Given the description of an element on the screen output the (x, y) to click on. 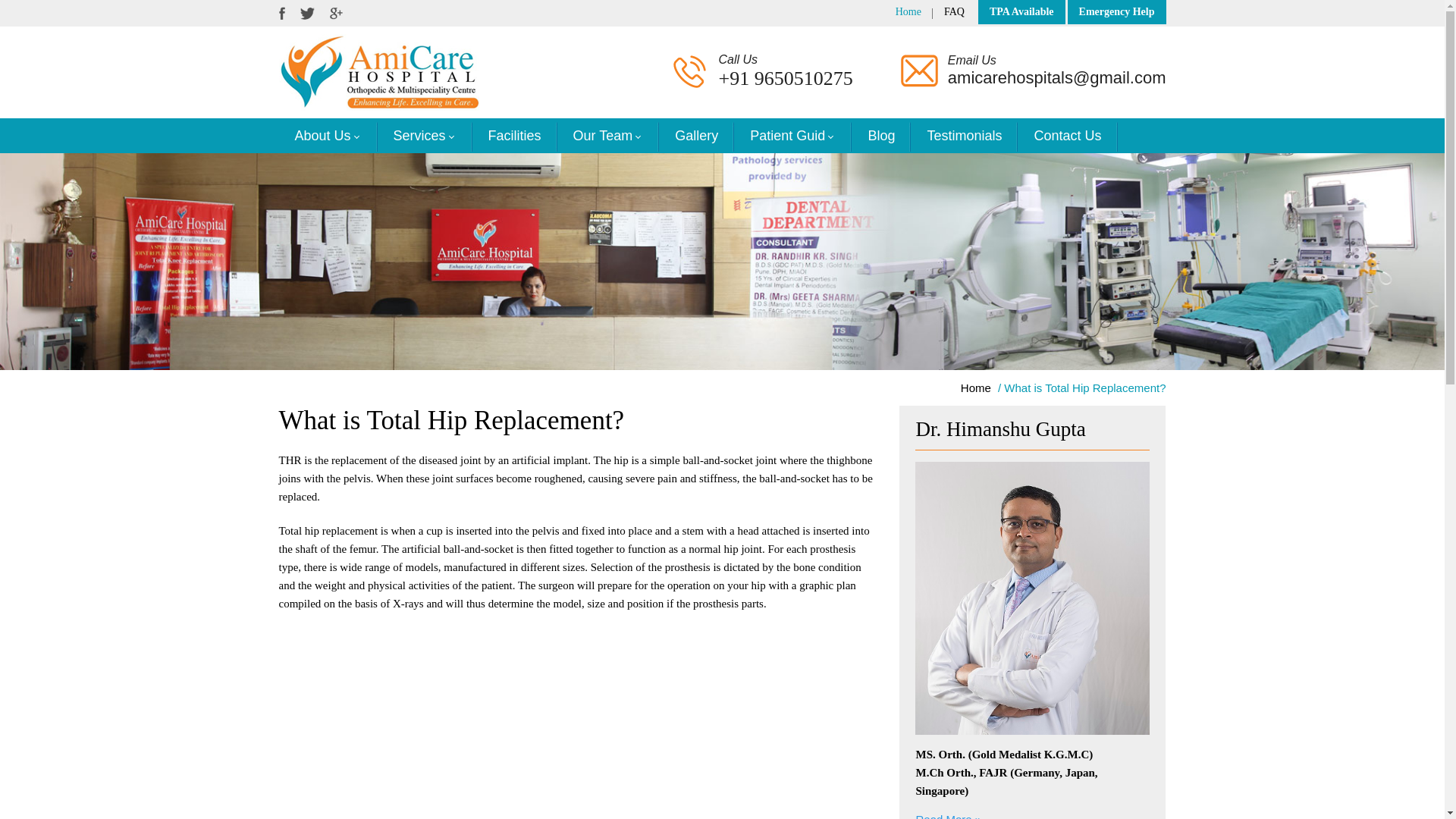
Patient Guid (792, 135)
Home (975, 387)
Gallery (696, 135)
FAQ (953, 11)
TPA Available (1022, 11)
Testimonials (964, 135)
FAQ (953, 11)
Emergency Help (1116, 11)
About Us (328, 135)
Emergency Help (1116, 11)
